Given the description of an element on the screen output the (x, y) to click on. 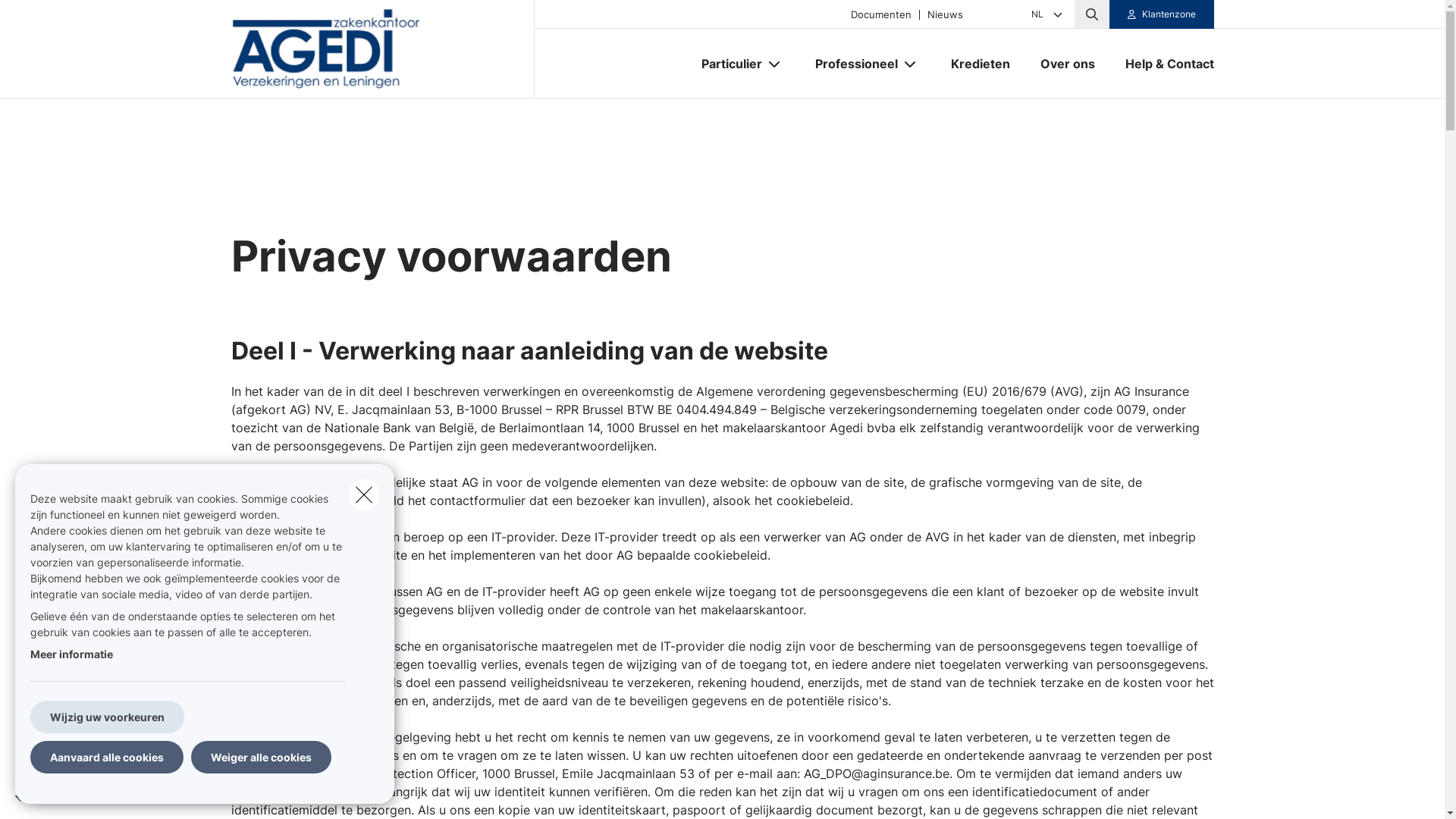
Aanvaard alle cookies Element type: text (106, 756)
Documenten Element type: text (881, 13)
Zoeken Element type: text (42, 18)
Klantenzone Element type: text (1161, 14)
Kredieten Element type: text (980, 63)
Weiger alle cookies Element type: text (261, 756)
Meer informatie Element type: text (71, 653)
Professioneel Element type: text (849, 63)
Wijzig uw voorkeuren Element type: text (107, 716)
Nieuws Element type: text (944, 13)
Over ons Element type: text (1067, 63)
Particulier Element type: text (725, 63)
Help & Contact Element type: text (1162, 63)
